Given the description of an element on the screen output the (x, y) to click on. 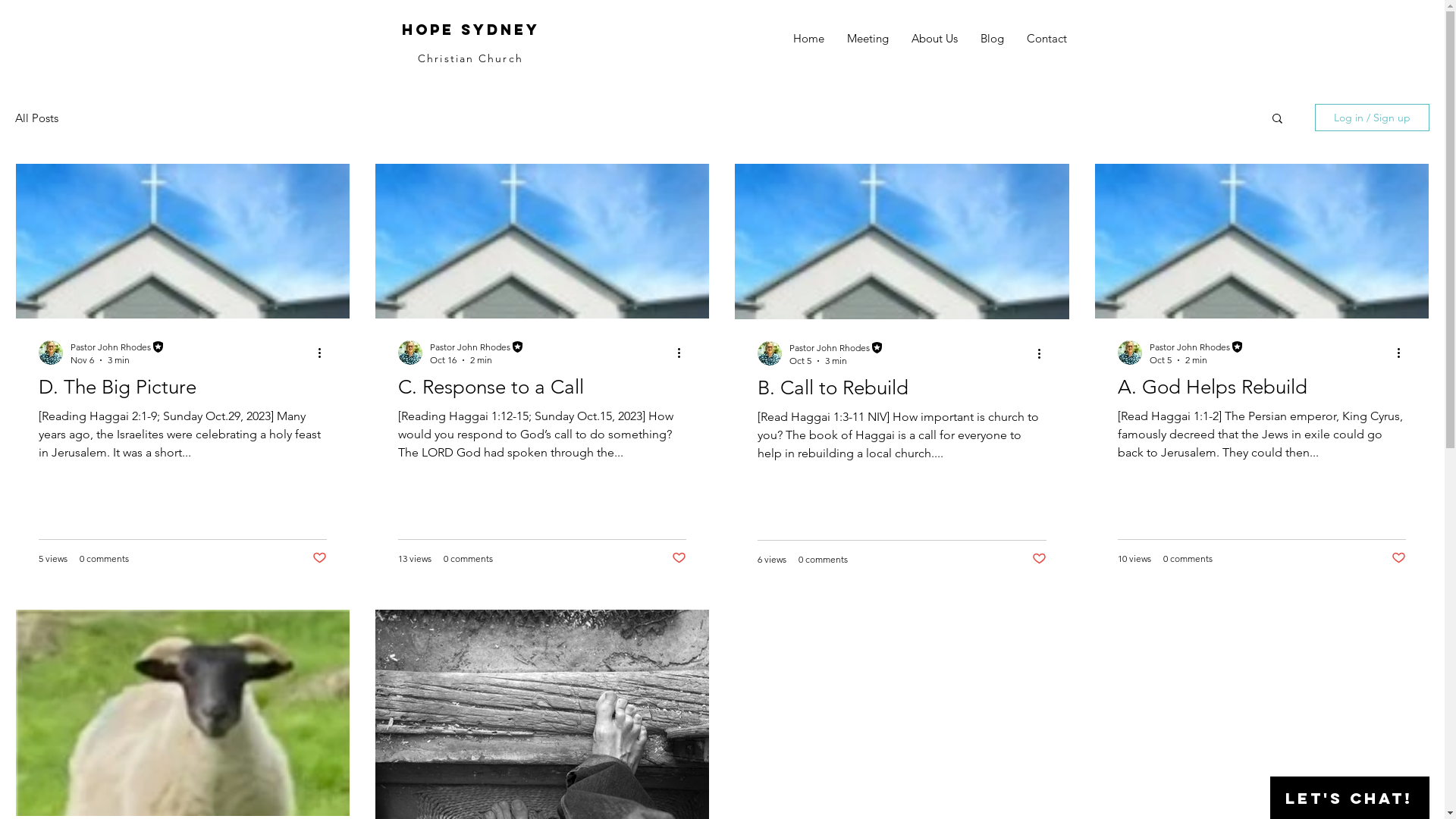
Home Element type: text (807, 38)
Post not marked as liked Element type: text (678, 558)
0 comments Element type: text (103, 557)
0 comments Element type: text (1187, 557)
0 comments Element type: text (822, 558)
Blog Element type: text (992, 38)
0 comments Element type: text (467, 557)
Hope Sydney Element type: text (470, 29)
D. The Big Picture Element type: text (182, 387)
Christian Church Element type: text (470, 58)
Post not marked as liked Element type: text (1039, 558)
Meeting Element type: text (867, 38)
Post not marked as liked Element type: text (319, 558)
Contact Element type: text (1045, 38)
All Posts Element type: text (36, 117)
B. Call to Rebuild Element type: text (901, 388)
About Us Element type: text (933, 38)
A. God Helps Rebuild Element type: text (1261, 387)
Log in / Sign up Element type: text (1371, 117)
Post not marked as liked Element type: text (1398, 558)
C. Response to a Call Element type: text (542, 387)
